Given the description of an element on the screen output the (x, y) to click on. 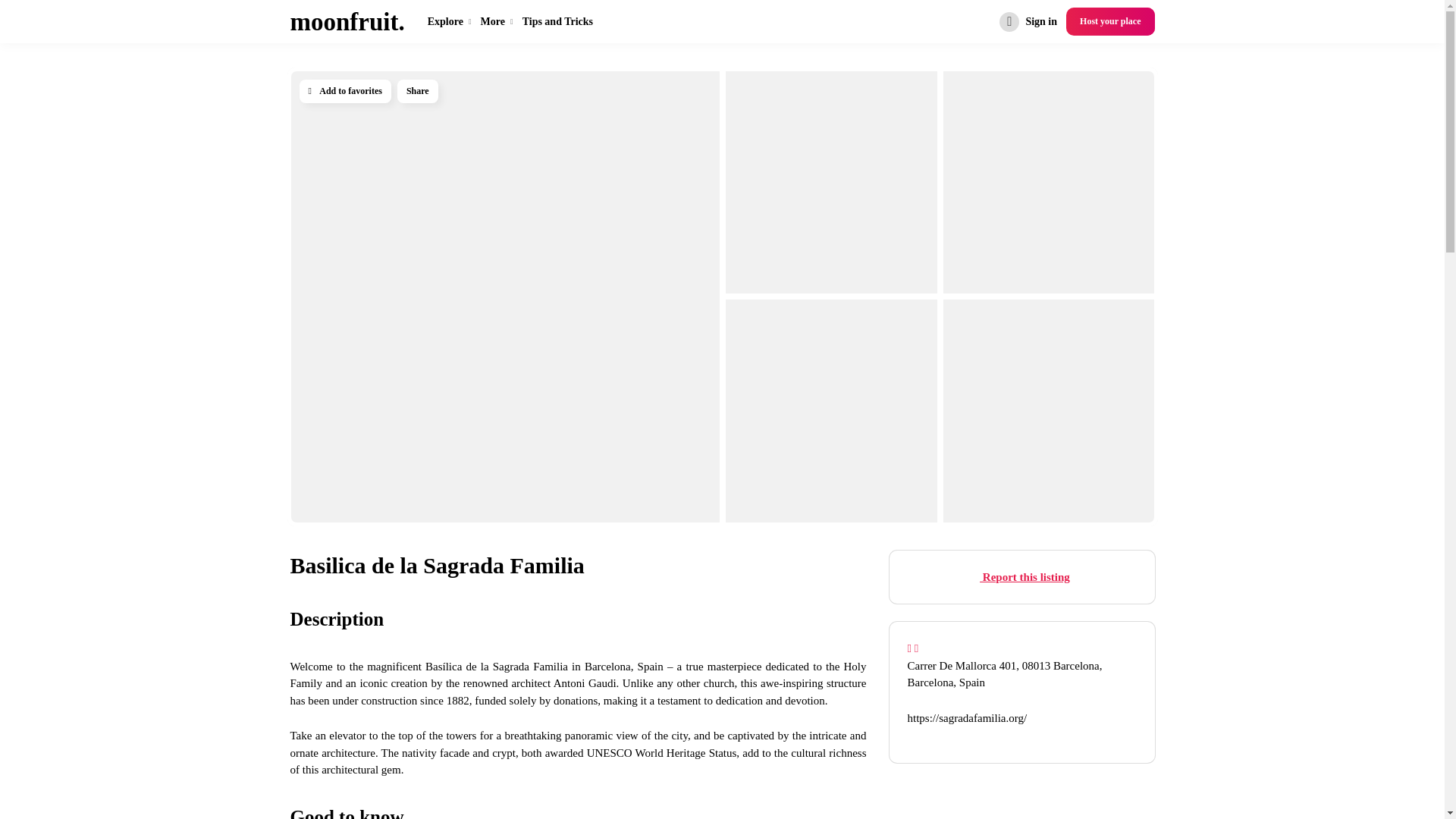
More (497, 21)
Explore (449, 21)
Share (417, 91)
Tips and Tricks (557, 21)
moonfruit. (346, 21)
Add to favorites (344, 91)
Sign in (1027, 21)
Report this listing (1022, 576)
Host your place (1109, 21)
